Given the description of an element on the screen output the (x, y) to click on. 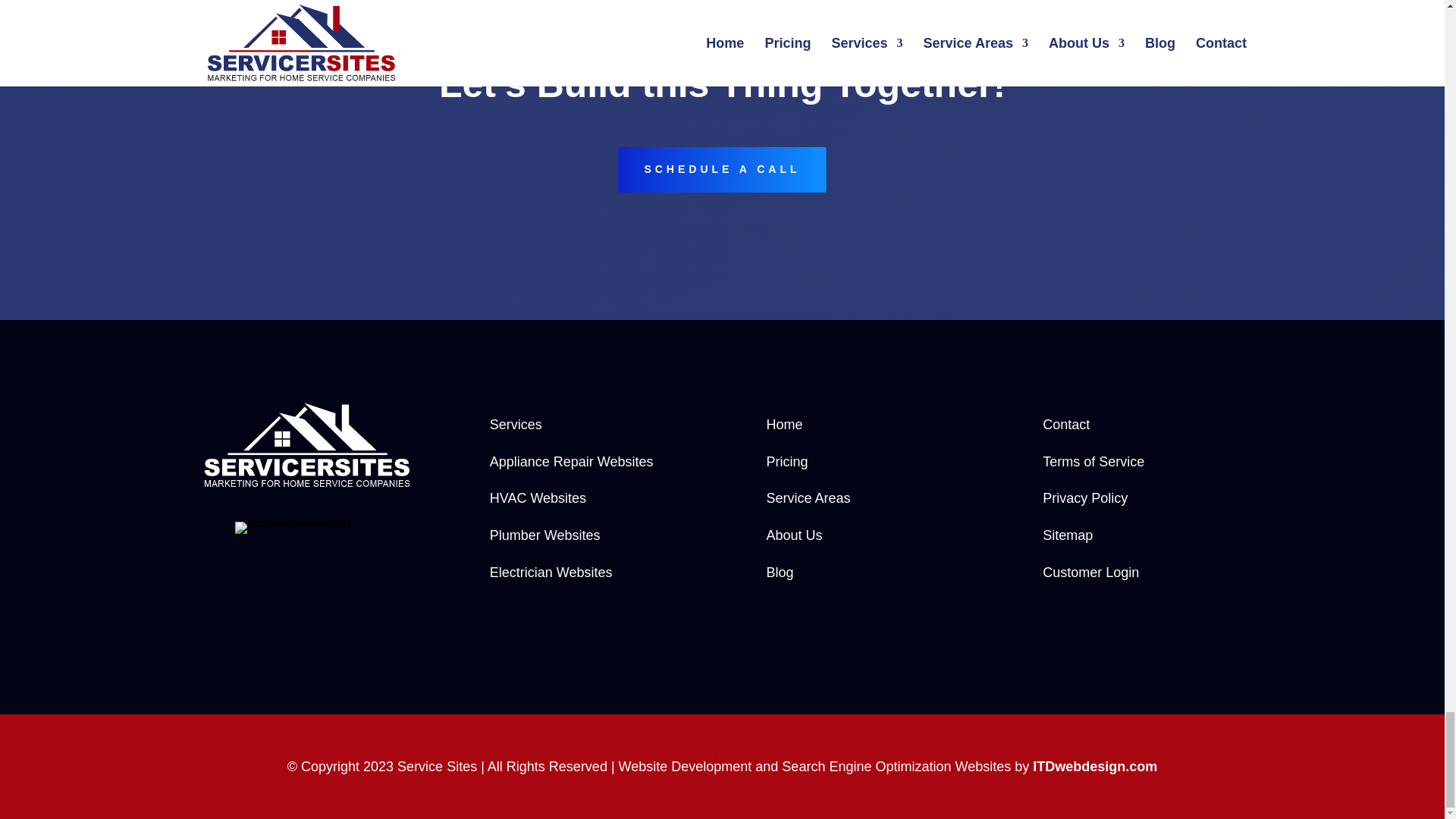
SERVICER SITES LOGO 500x216 (307, 445)
service-alliance-group-trust-badge-professional (307, 527)
